Given the description of an element on the screen output the (x, y) to click on. 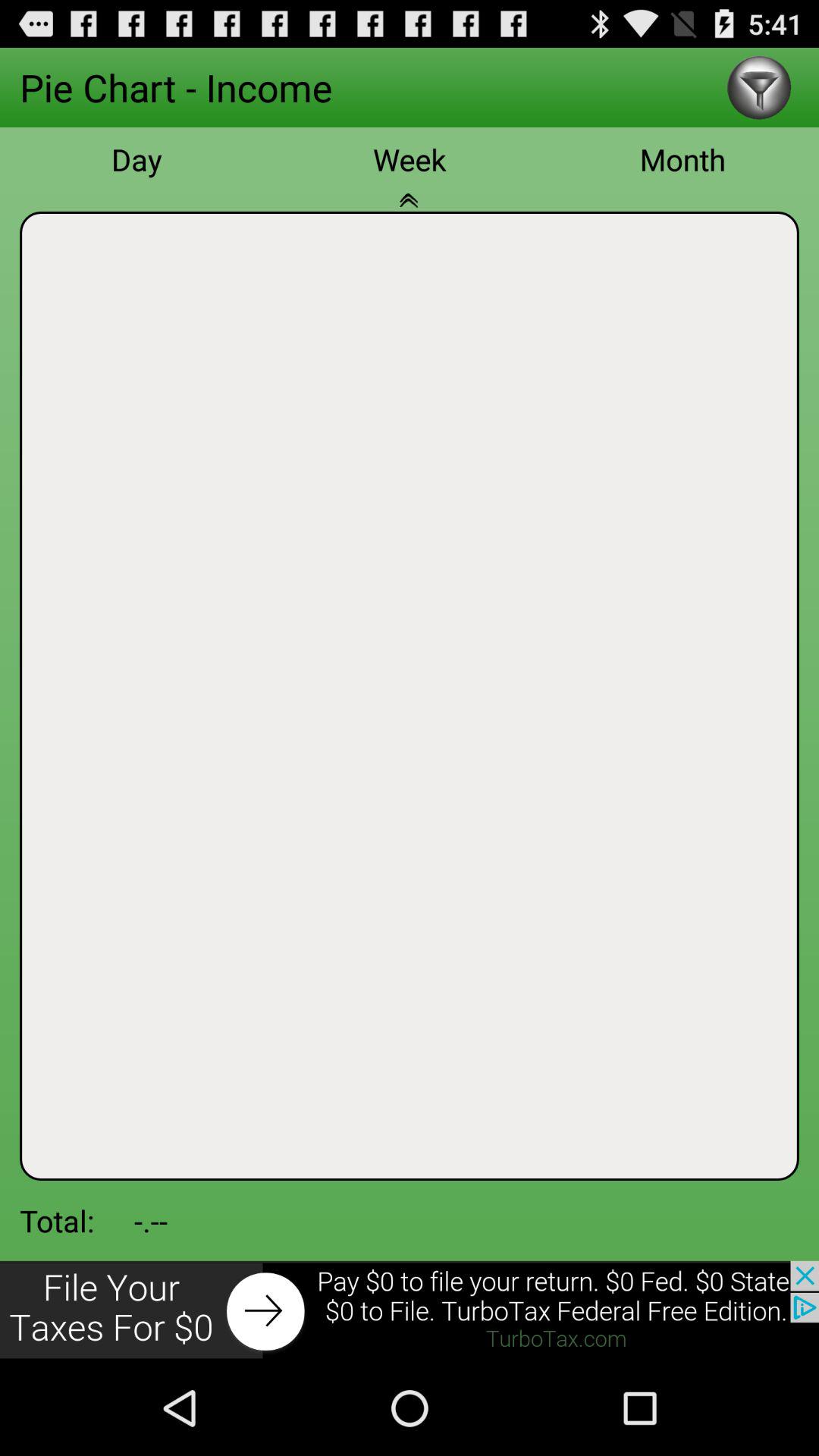
advertisement (409, 1310)
